Given the description of an element on the screen output the (x, y) to click on. 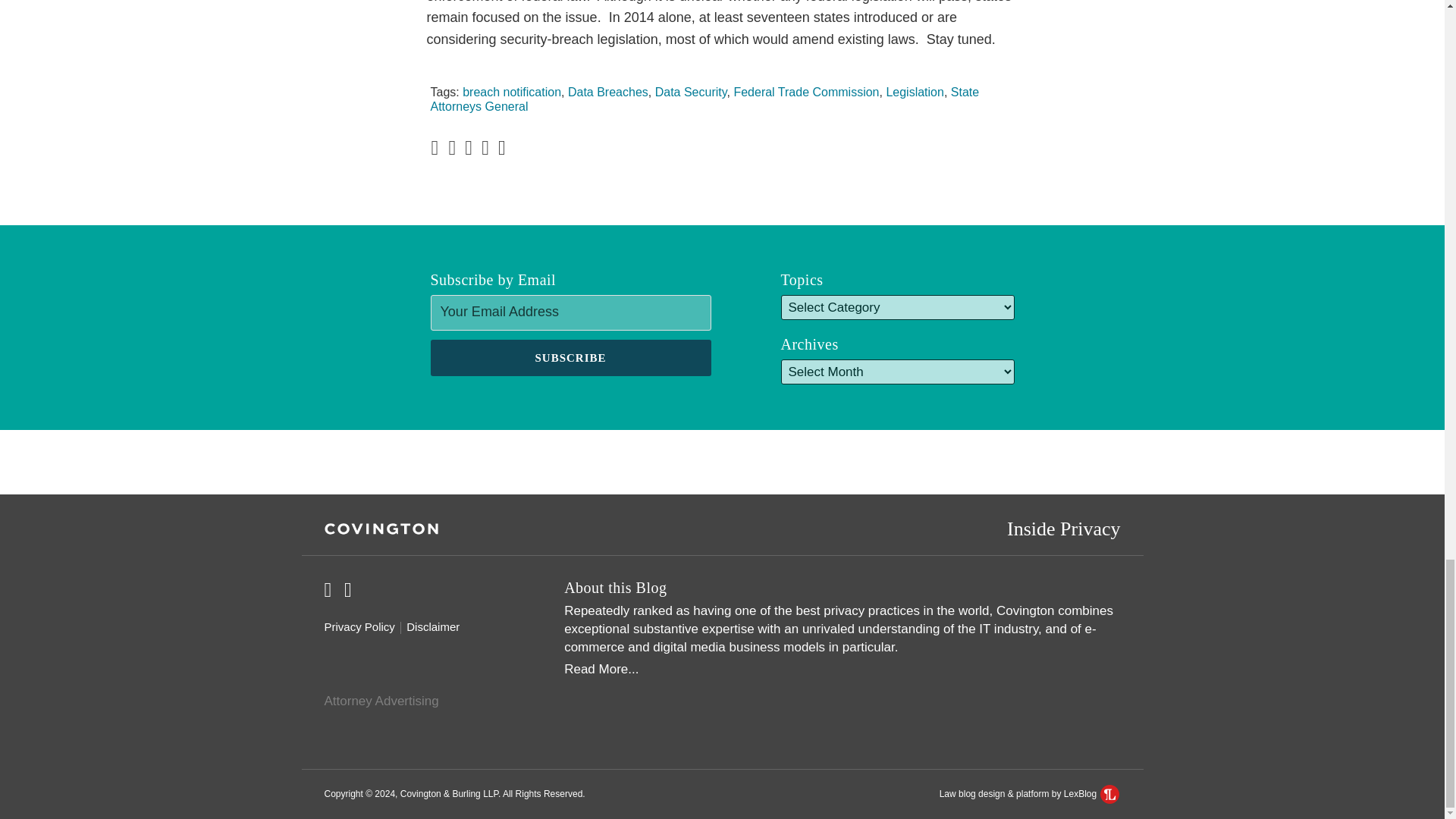
Data Breaches (607, 91)
breach notification (511, 91)
State Attorneys General (704, 99)
Legislation (914, 91)
Inside Privacy (1063, 528)
Data Security (690, 91)
Subscribe (570, 357)
Federal Trade Commission (806, 91)
Subscribe (570, 357)
LexBlog Logo (1109, 793)
